Given the description of an element on the screen output the (x, y) to click on. 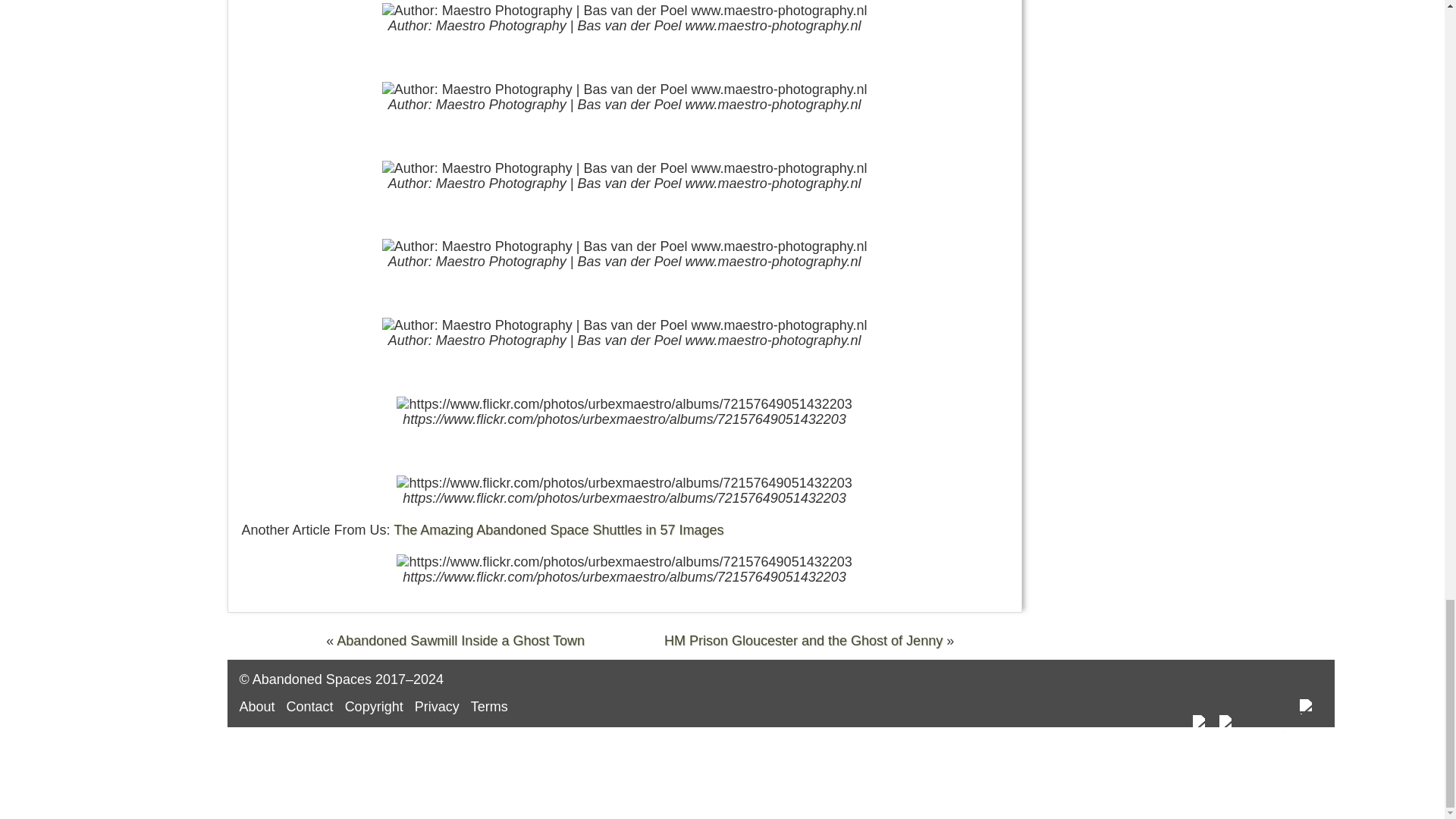
Privacy (437, 706)
Copyright (374, 706)
Contact (309, 706)
Abandoned Sawmill Inside a Ghost Town (460, 640)
HM Prison Gloucester and the Ghost of Jenny (802, 640)
The Amazing Abandoned Space Shuttles in 57 Images (558, 529)
About (257, 706)
Terms (489, 706)
